Given the description of an element on the screen output the (x, y) to click on. 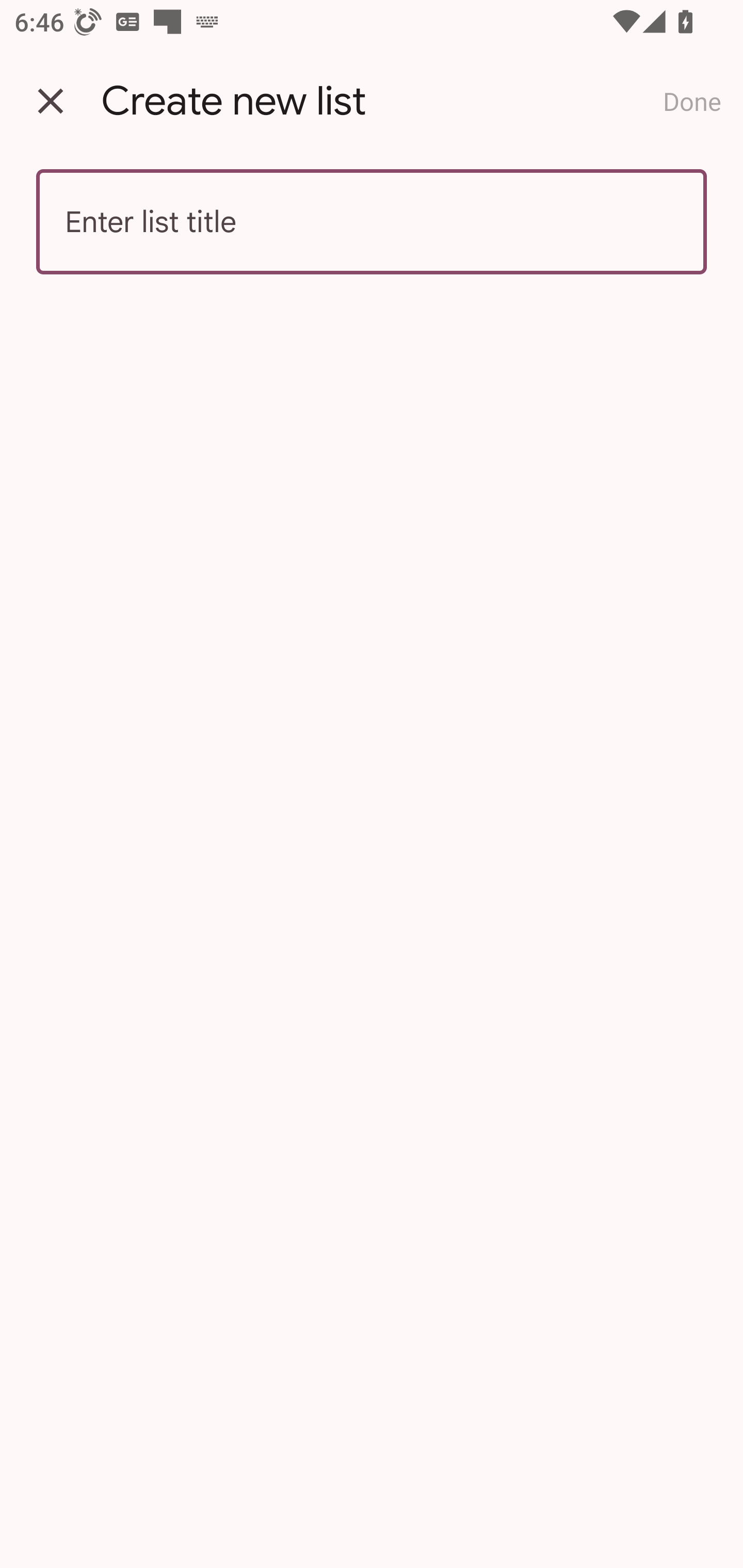
Back (50, 101)
Done (692, 101)
Enter list title (371, 221)
